Given the description of an element on the screen output the (x, y) to click on. 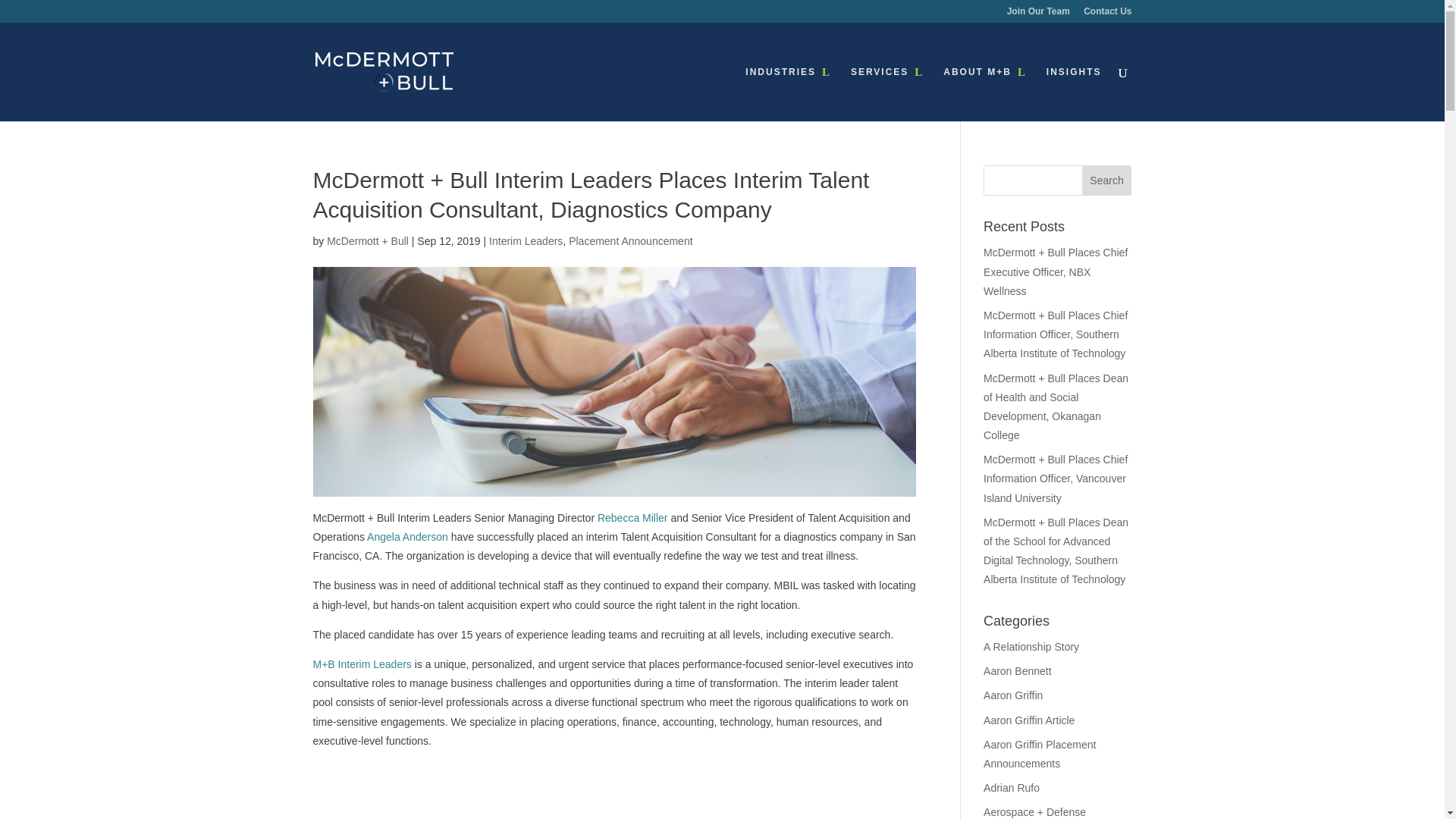
Join Our Team (1038, 14)
SERVICES (886, 93)
Contact Us (1107, 14)
INSIGHTS (1074, 93)
Search (1106, 180)
INDUSTRIES (788, 93)
